Given the description of an element on the screen output the (x, y) to click on. 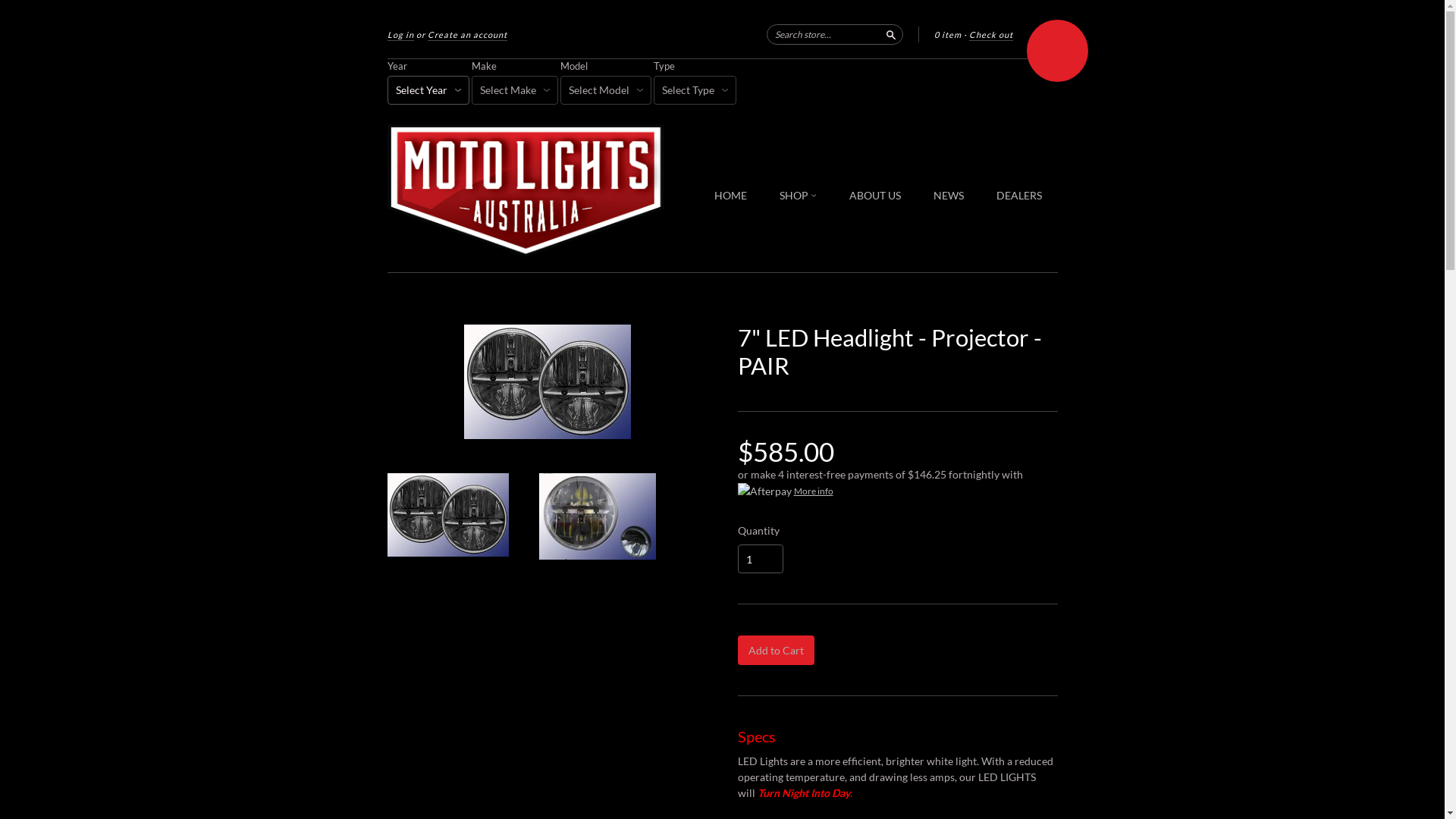
NEWS Element type: text (948, 195)
DEALERS Element type: text (1018, 195)
Log in Element type: text (399, 34)
HOME Element type: text (730, 195)
Create an account Element type: text (467, 34)
Search Element type: text (889, 33)
SHOP Element type: text (797, 196)
More info Element type: text (897, 490)
Add to Cart Element type: text (775, 650)
Check out Element type: text (991, 34)
0 item Element type: text (947, 34)
ABOUT US Element type: text (874, 195)
